Given the description of an element on the screen output the (x, y) to click on. 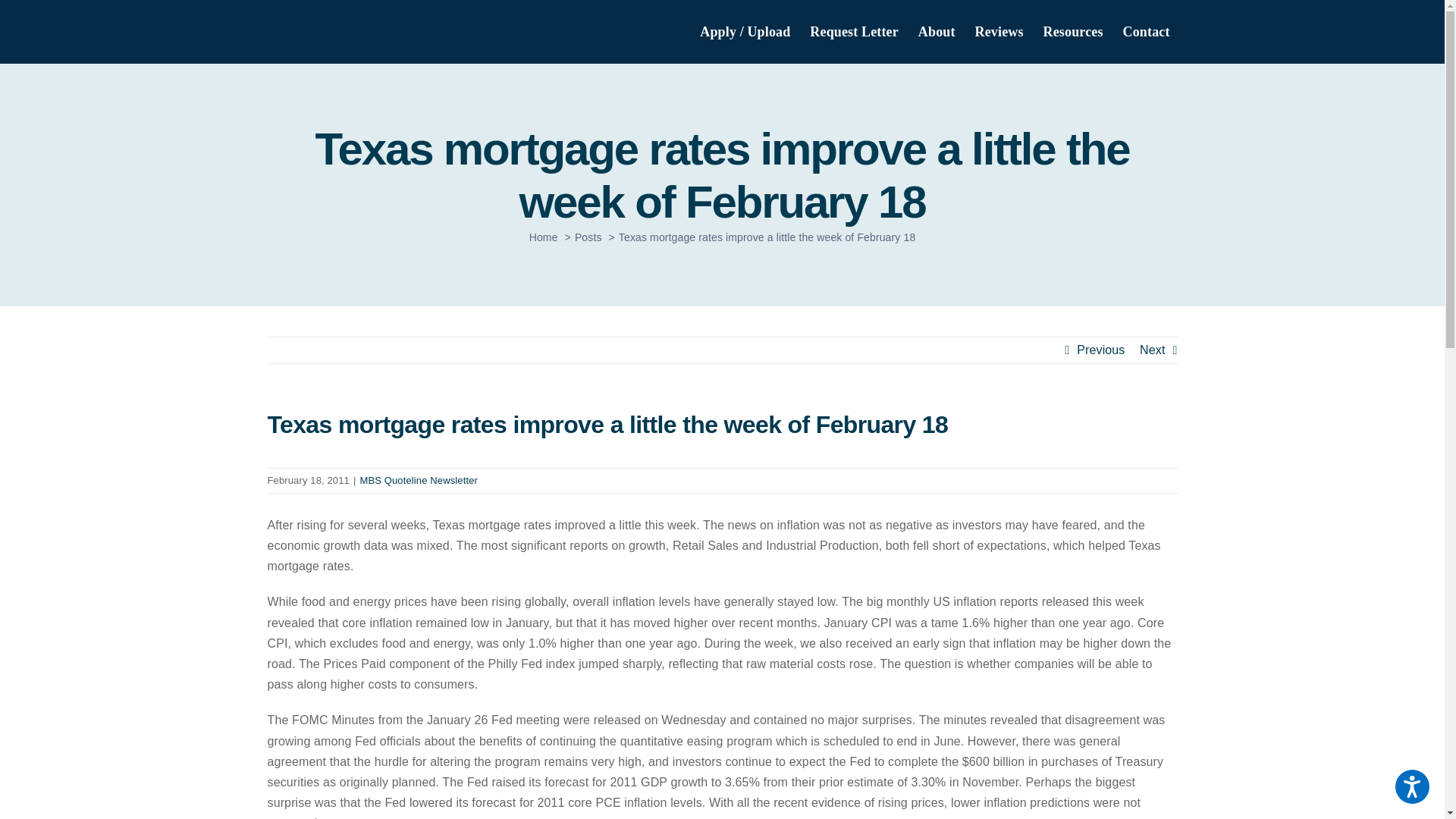
Reviews (999, 31)
About (936, 31)
Request Letter (853, 31)
Contact (1146, 31)
MBS Quoteline Newsletter (418, 480)
Next (1152, 350)
Posts (588, 236)
Home (543, 236)
Previous (1100, 350)
Resources (1072, 31)
